Given the description of an element on the screen output the (x, y) to click on. 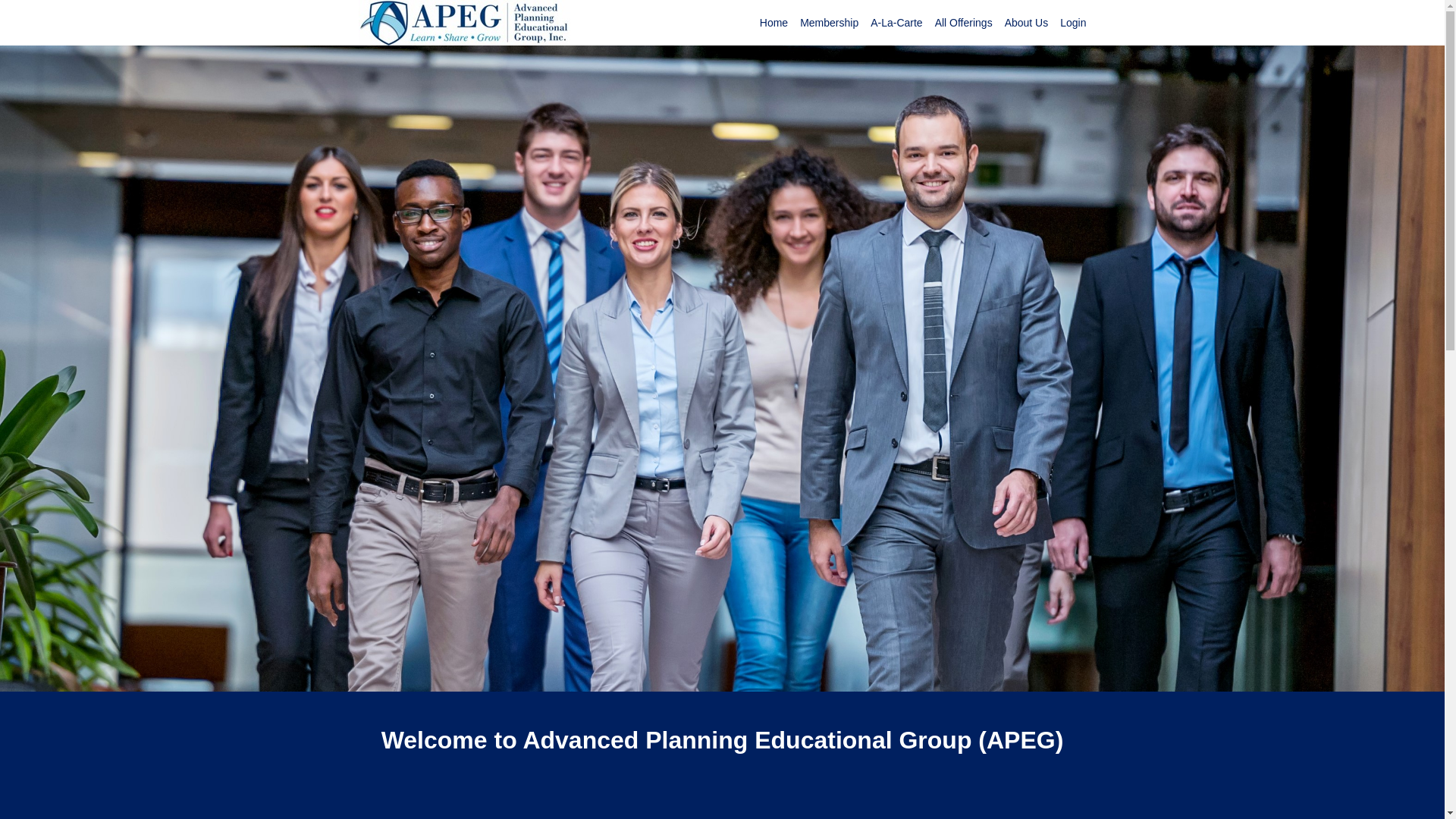
A-La-Carte (895, 22)
Login (1072, 22)
About Us (1026, 22)
Home (773, 22)
Membership (829, 22)
All Offerings (963, 22)
